Given the description of an element on the screen output the (x, y) to click on. 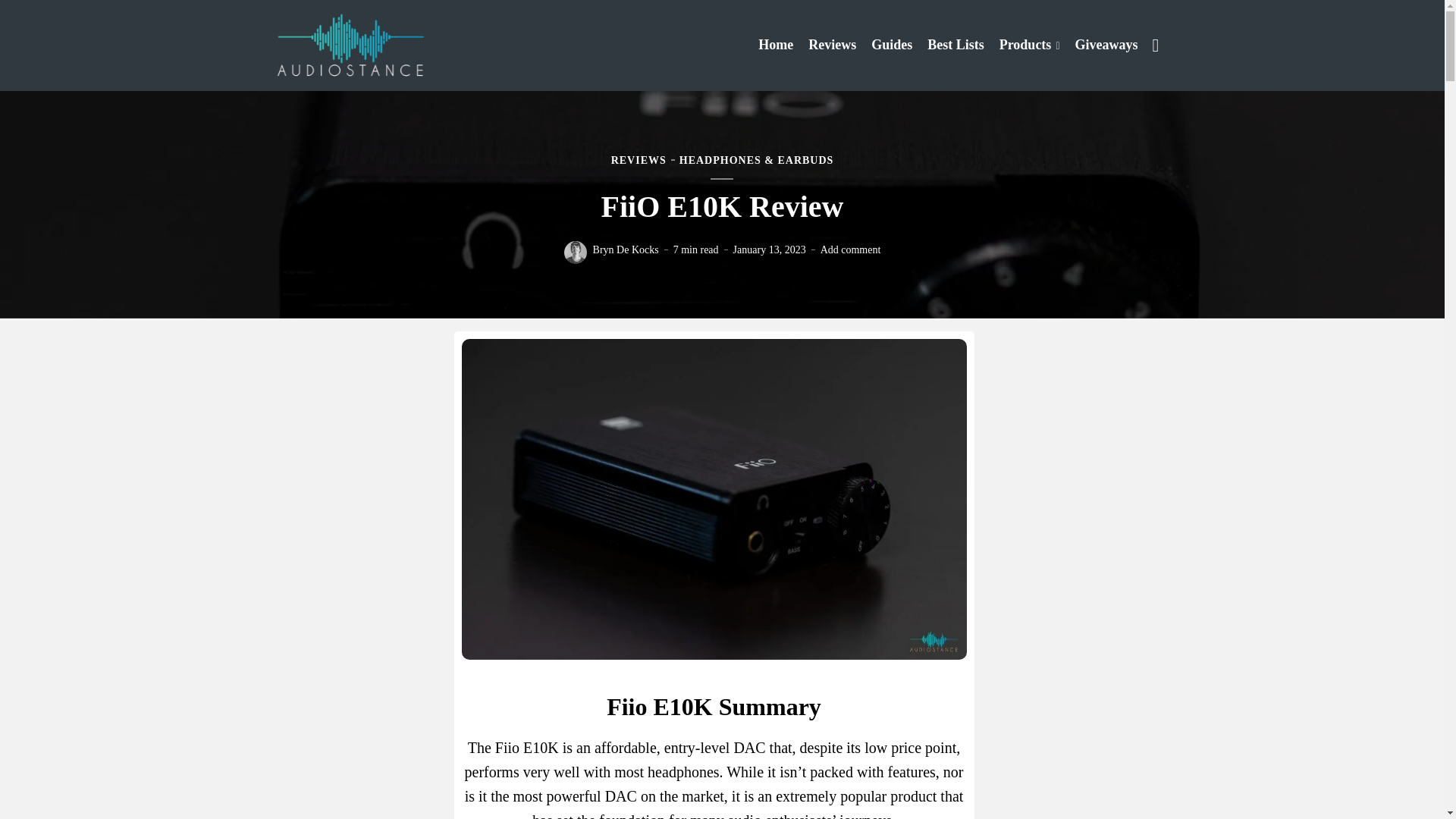
REVIEWS (638, 160)
Add comment (850, 249)
Products (1028, 44)
Home (775, 44)
Guides (891, 44)
Best Lists (955, 44)
Giveaways (1106, 44)
Bryn De Kocks (625, 249)
Add comment (850, 249)
Reviews (832, 44)
